Given the description of an element on the screen output the (x, y) to click on. 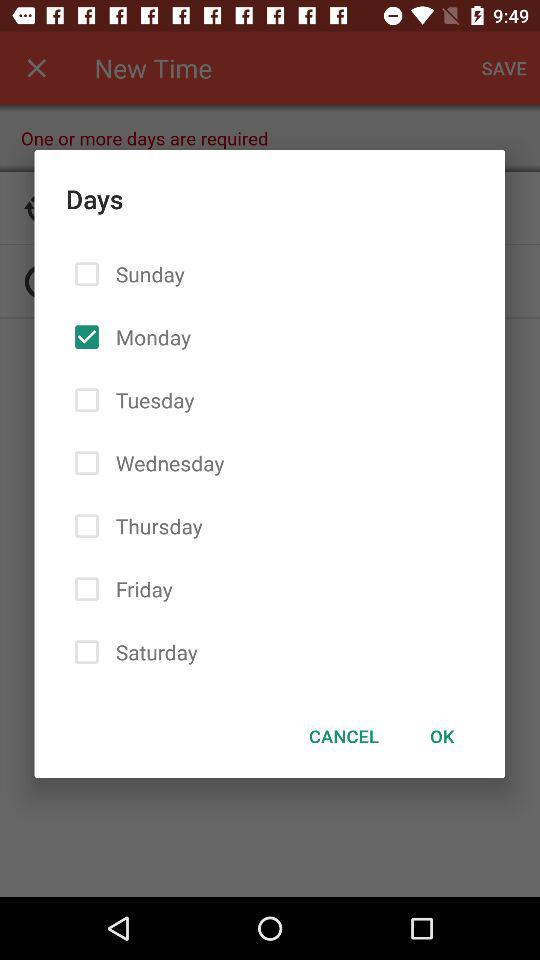
turn off the ok at the bottom right corner (441, 735)
